Given the description of an element on the screen output the (x, y) to click on. 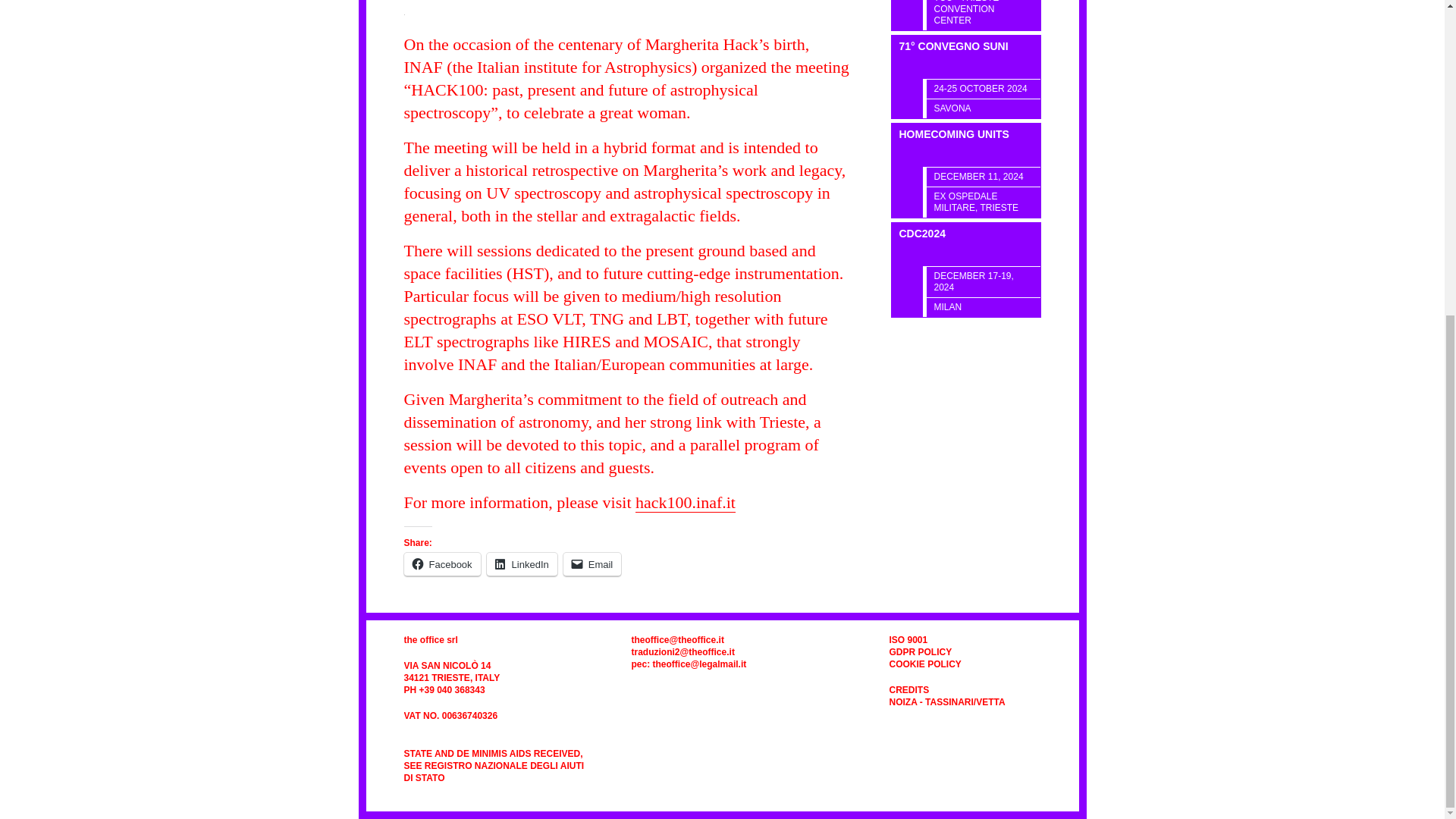
Click to share on LinkedIn (521, 564)
Click to email a link to a friend (592, 564)
CDC2024 (966, 244)
SAVONA (983, 107)
24-25 OCTOBER 2024 (983, 88)
MILAN (983, 306)
ISO 9001 (907, 639)
EX OSPEDALE MILITARE, TRIESTE (983, 201)
TCC - TRIESTE CONVENTION CENTER (983, 15)
Facebook (441, 564)
